Given the description of an element on the screen output the (x, y) to click on. 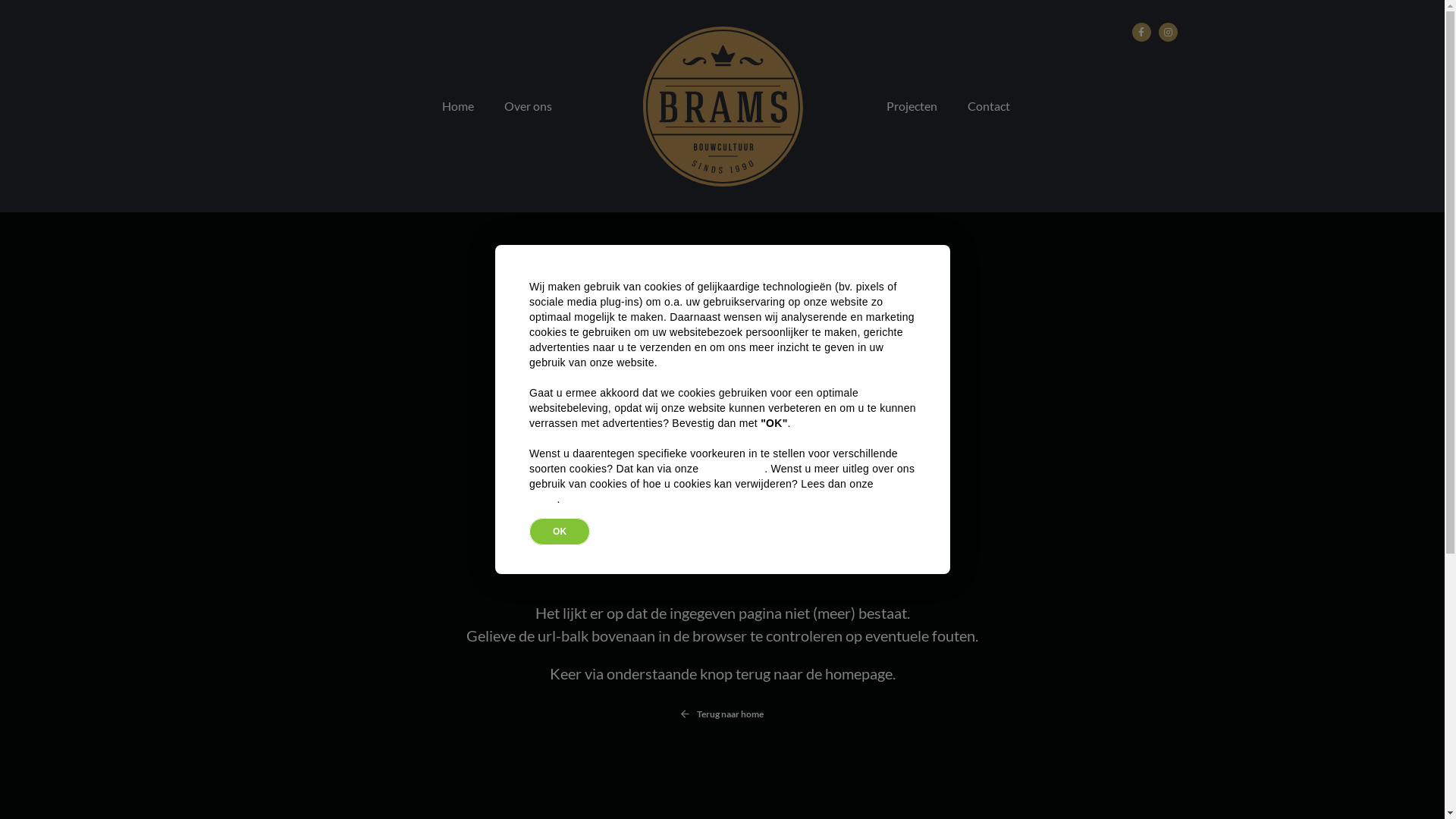
Home Element type: text (457, 105)
Contact Element type: text (988, 105)
facebook Element type: hover (1140, 31)
Brams Bouwcultuur Element type: hover (721, 105)
cookie policy Element type: text (732, 468)
Terug naar home Element type: text (721, 714)
instagram Element type: hover (1167, 31)
Projecten Element type: text (910, 105)
Over ons Element type: text (527, 105)
cookie policy Element type: text (718, 491)
